Given the description of an element on the screen output the (x, y) to click on. 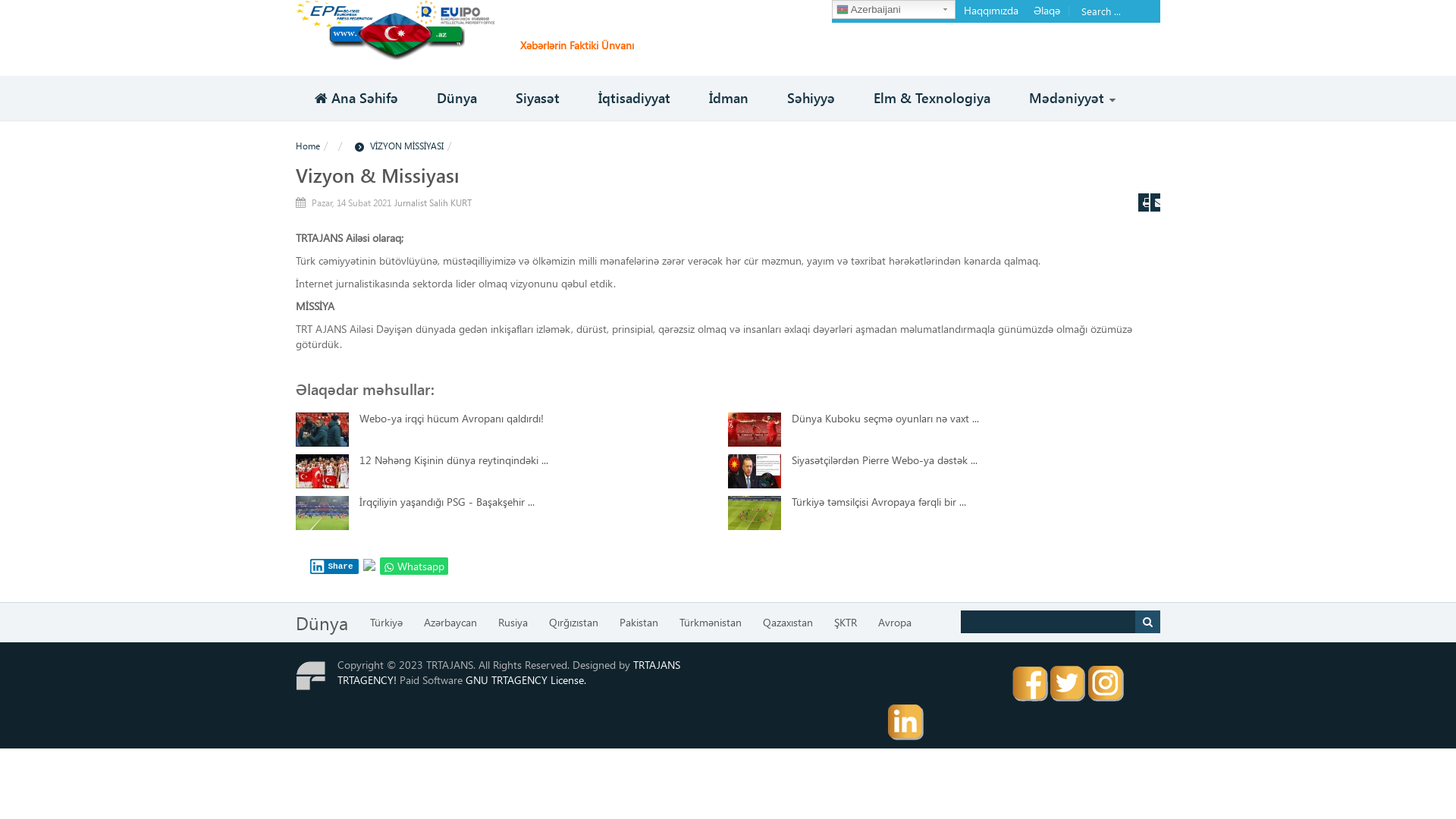
Avropa Element type: text (894, 622)
Pakistan Element type: text (638, 622)
GNU TRTAGENCY License. Element type: text (525, 679)
Rusiya Element type: text (512, 622)
TRTAJANS Element type: hover (395, 28)
Share Element type: text (334, 566)
Print Element type: text (1143, 202)
Azerbaijani Element type: text (893, 9)
Email Element type: text (1155, 202)
Whatsapp Element type: text (413, 565)
TRTAGENCY! Element type: text (366, 679)
Elm & Texnologiya Element type: text (931, 97)
Home Element type: text (307, 145)
TRTAJANS Element type: text (656, 664)
